Given the description of an element on the screen output the (x, y) to click on. 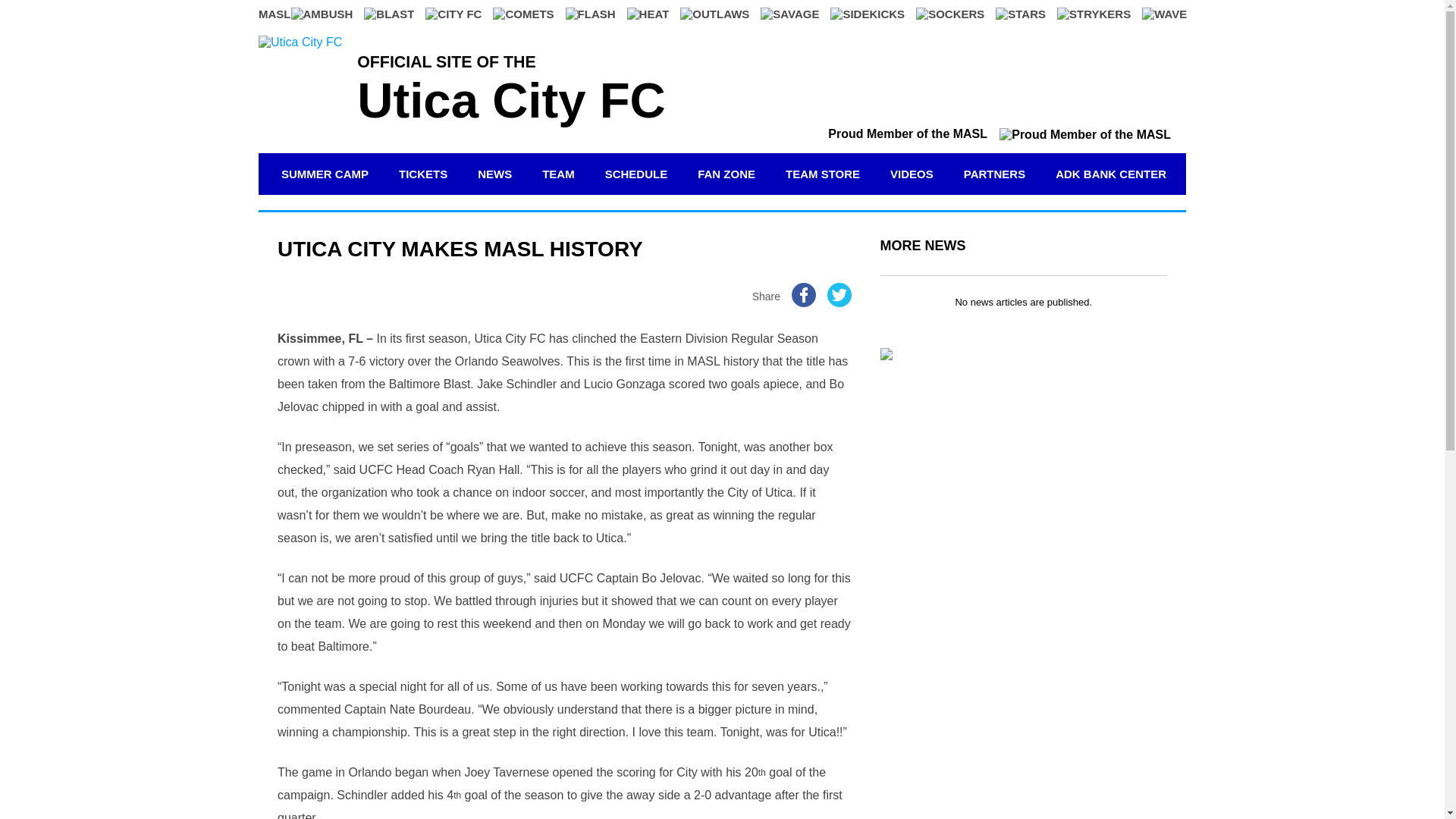
MASL (275, 13)
Proud Member of the MASL (999, 133)
SUMMER CAMP (324, 173)
NEWS (493, 173)
TEAM STORE (822, 173)
